Given the description of an element on the screen output the (x, y) to click on. 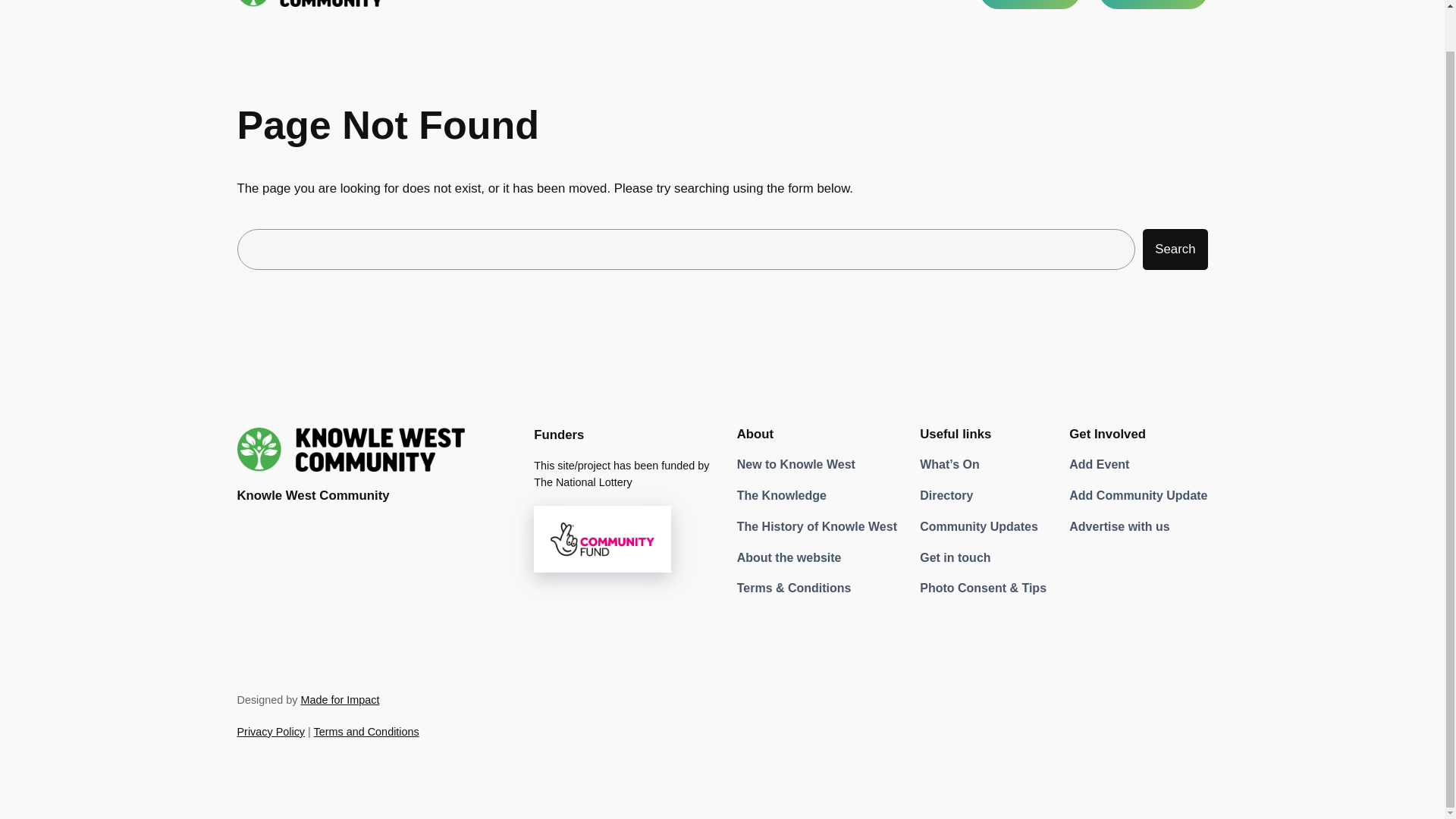
New to Knowle West (796, 465)
Knowle West Community (311, 495)
Privacy Policy (269, 731)
Add Community Update (1137, 496)
Community Updates (979, 527)
Made for Impact (338, 699)
Advertise with us (1118, 527)
The History of Knowle West (816, 527)
Search (1174, 249)
ADD UPDATE (1153, 4)
